Given the description of an element on the screen output the (x, y) to click on. 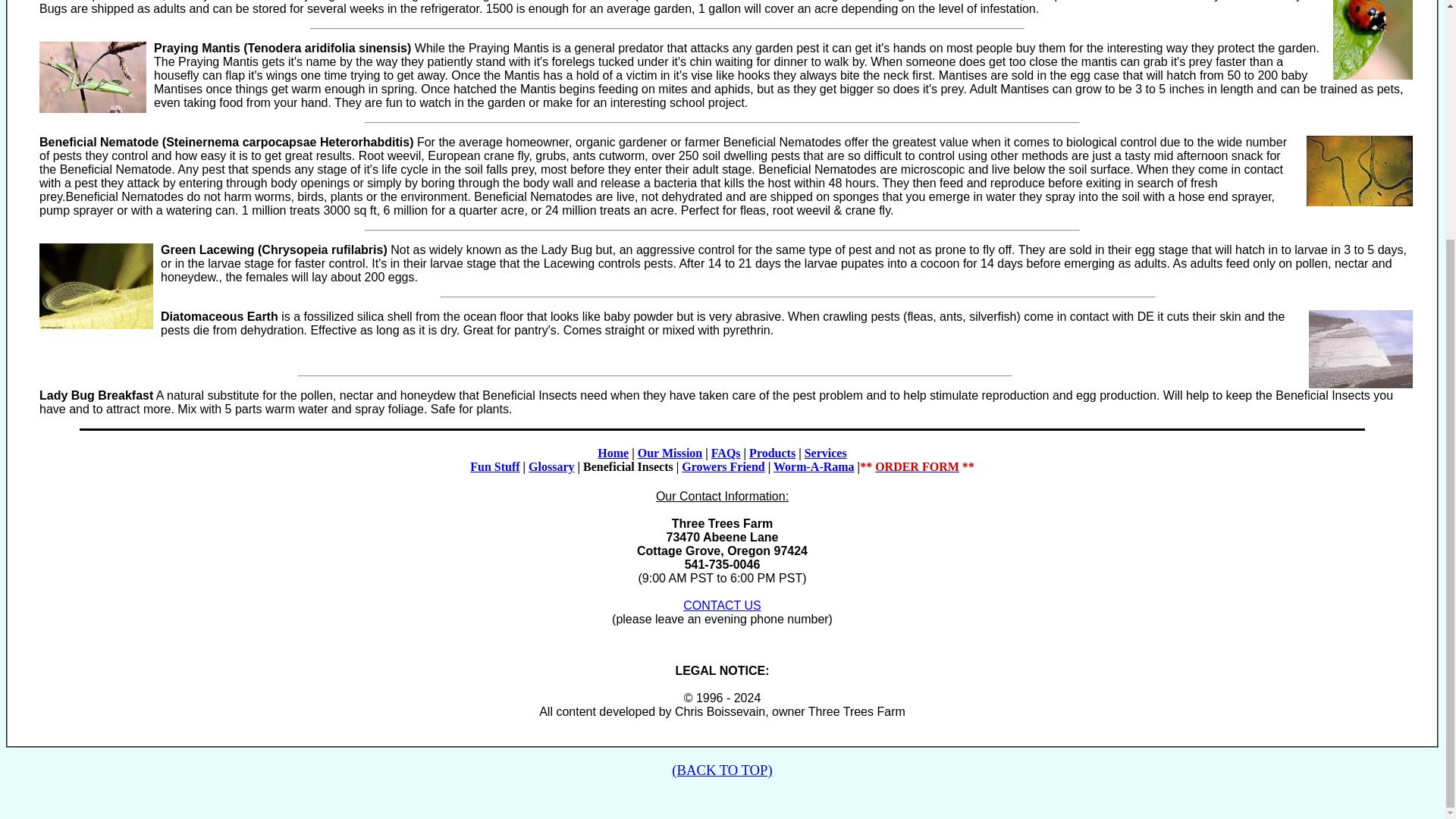
Glossary (550, 466)
Services (826, 452)
Home (612, 452)
Growers Friend (722, 466)
Fun Stuff (494, 466)
FAQs (726, 452)
Worm-A-Rama (813, 466)
CONTACT US (721, 604)
Products (771, 452)
ORDER FORM (917, 466)
Our Mission (670, 452)
